Given the description of an element on the screen output the (x, y) to click on. 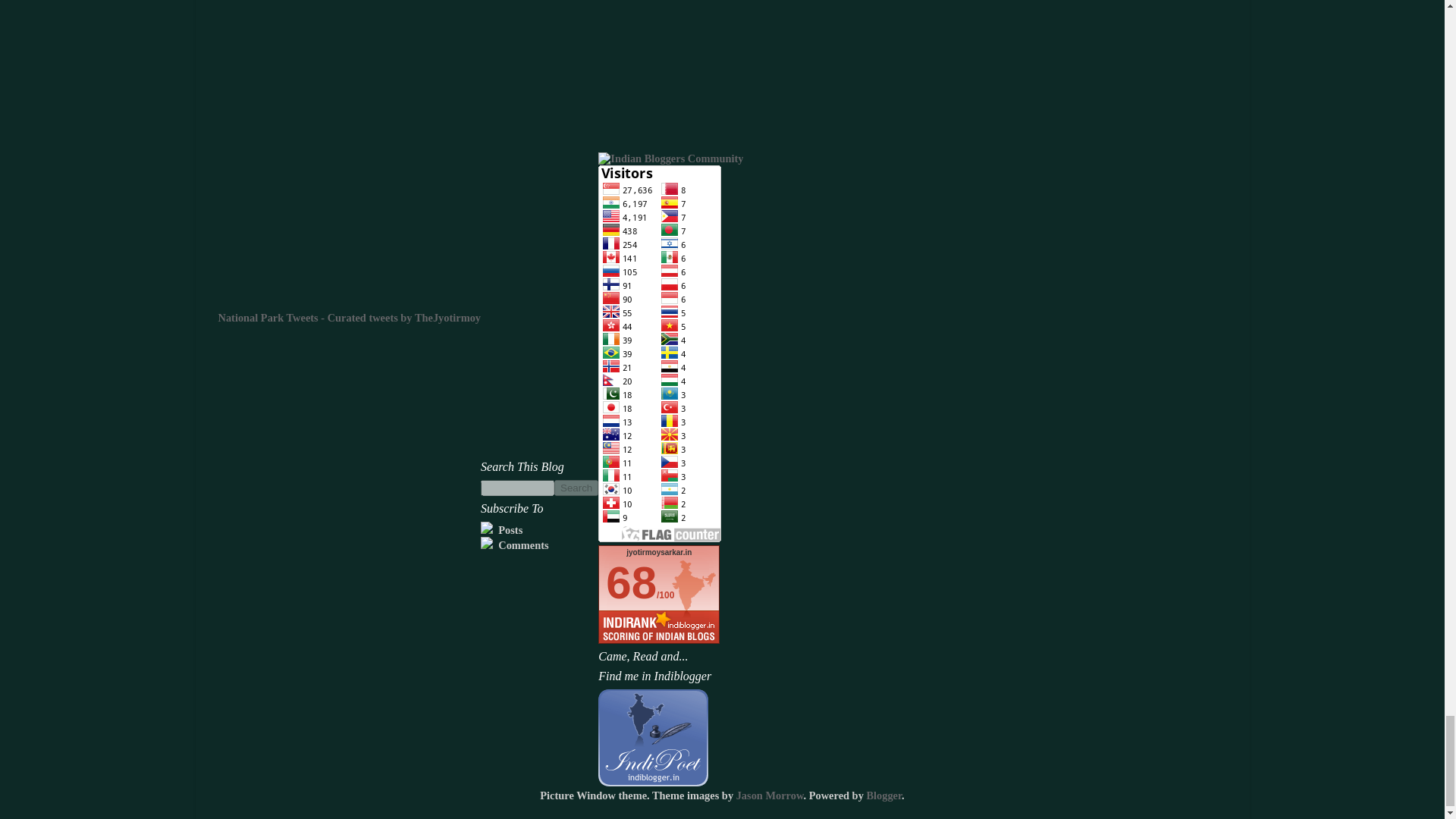
Search (576, 487)
search (517, 487)
Search (576, 487)
